Given the description of an element on the screen output the (x, y) to click on. 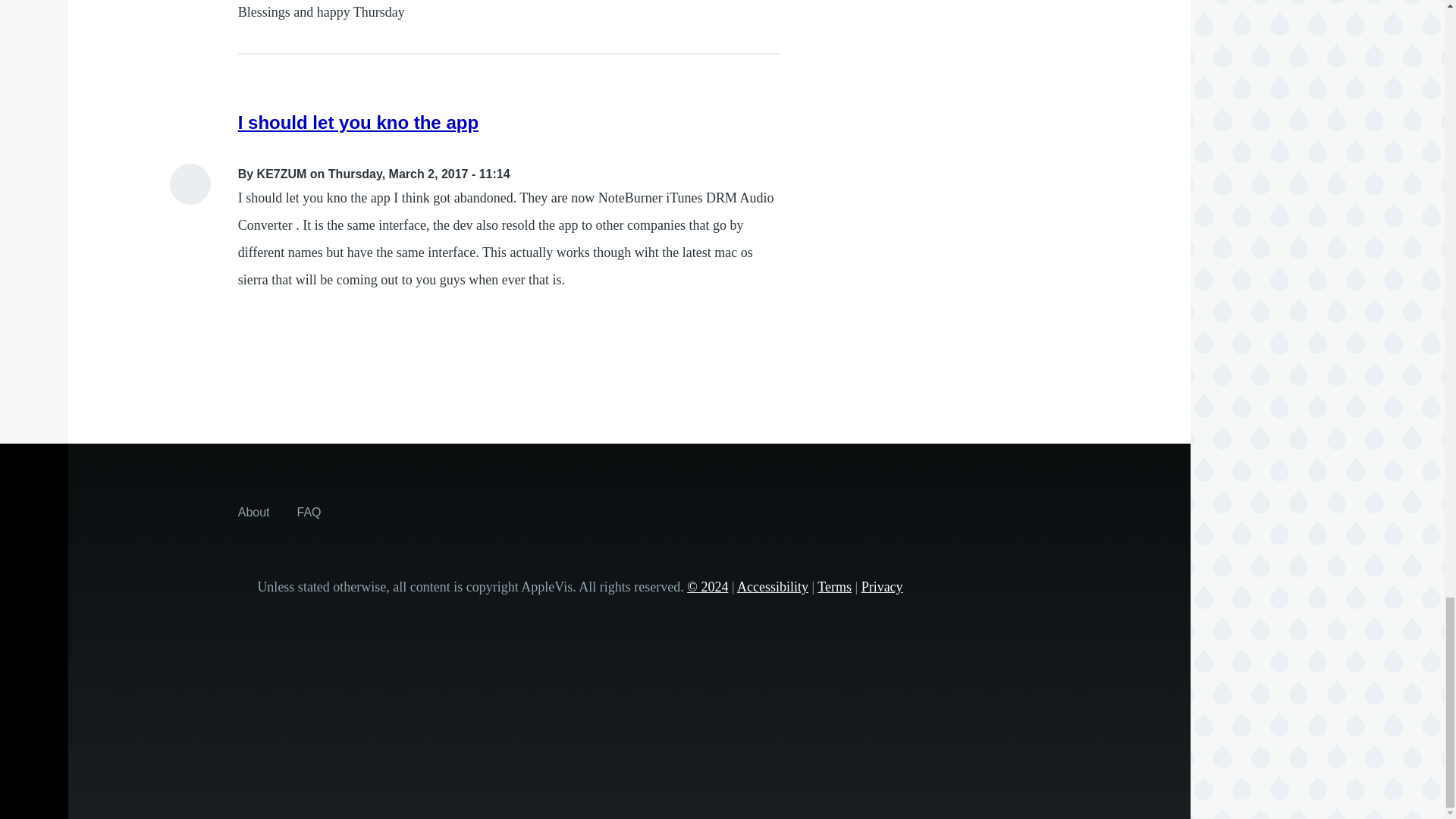
About (253, 511)
About (253, 511)
I should let you kno the app (358, 122)
Accessibility (772, 586)
